Given the description of an element on the screen output the (x, y) to click on. 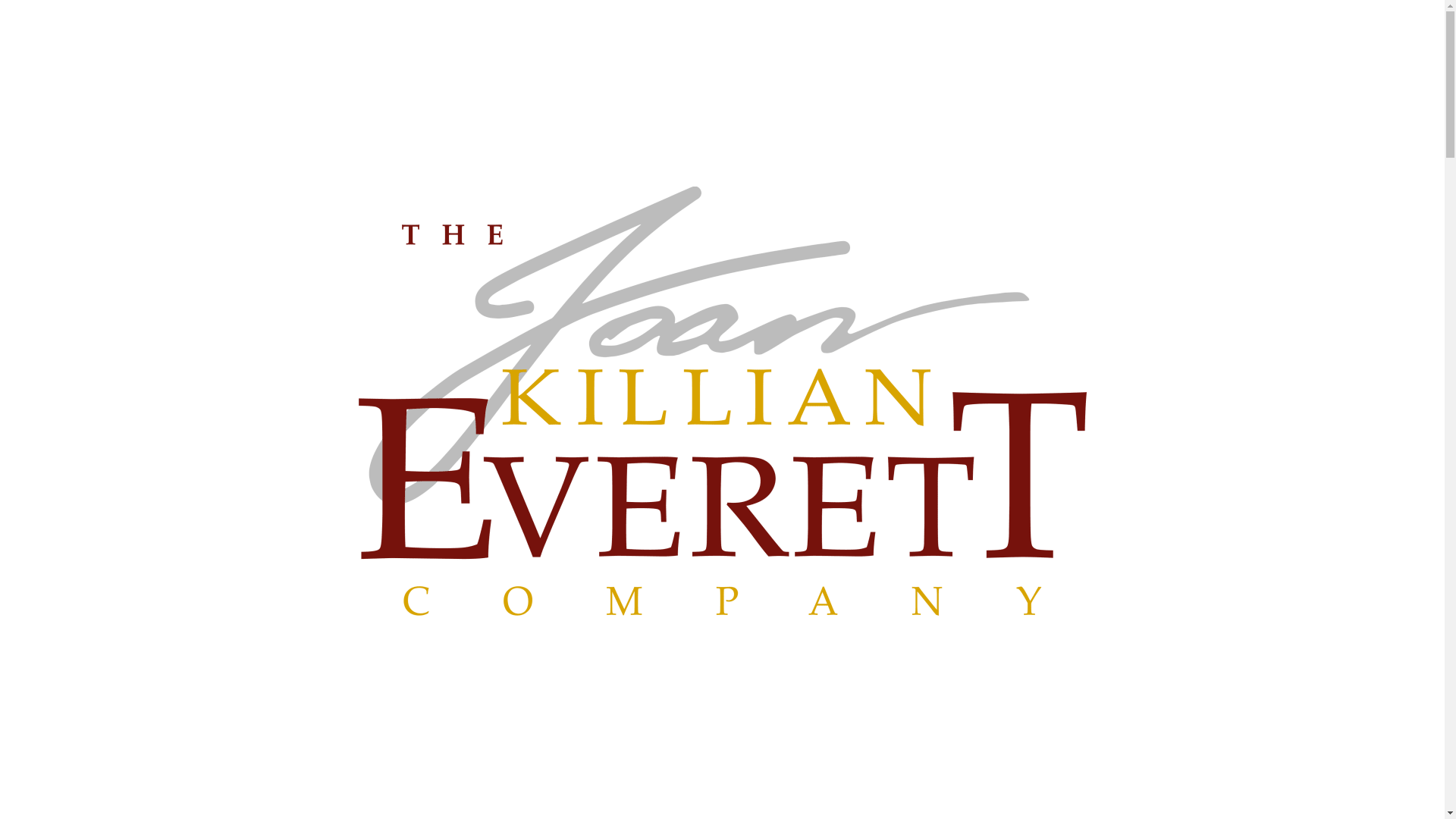
Communities (1198, 30)
Properties (1102, 30)
About Us (938, 30)
Contact Us (1341, 30)
Our Agents (1016, 30)
